Given the description of an element on the screen output the (x, y) to click on. 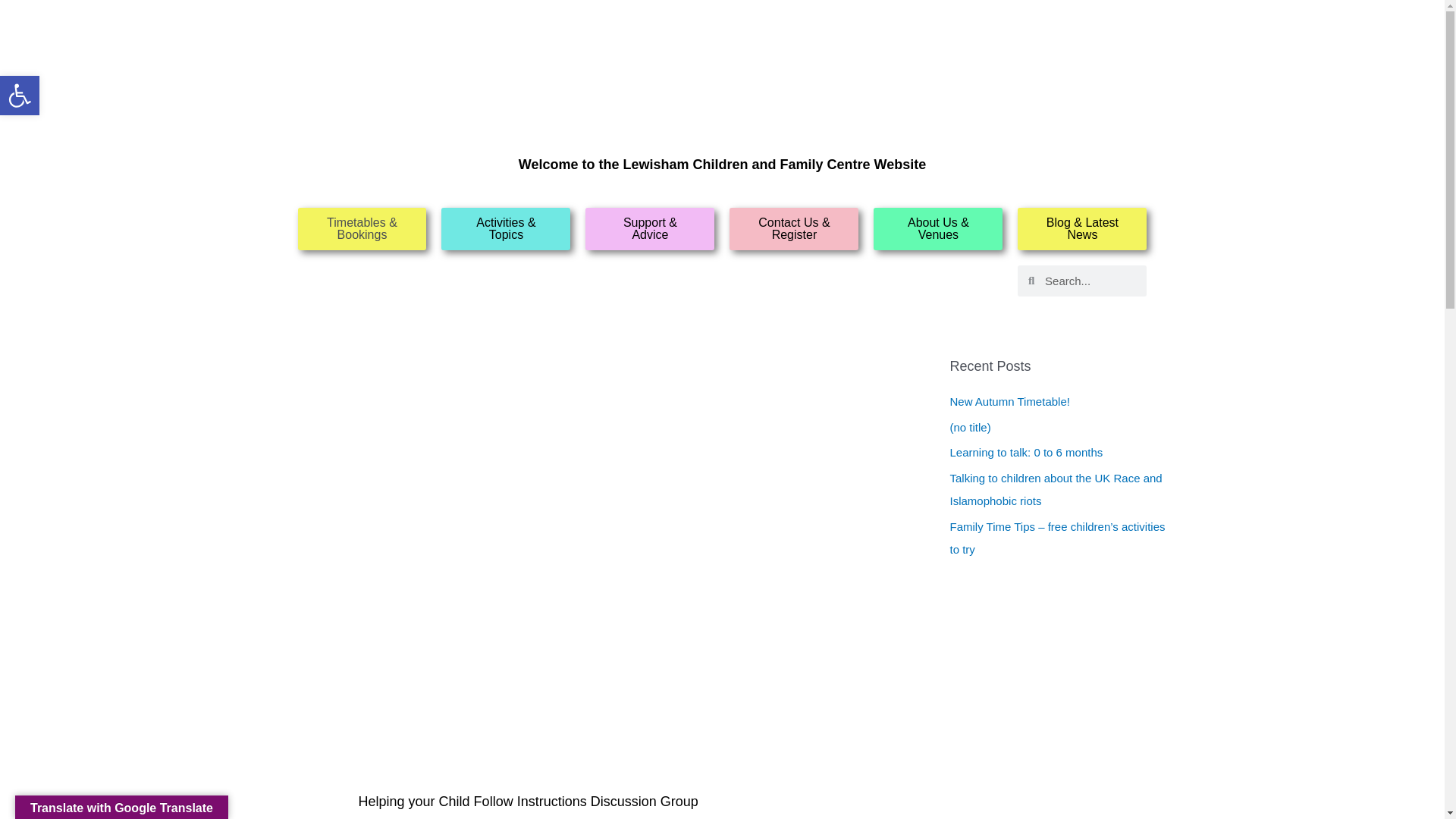
Talking to children about the UK Race and Islamophobic riots (1055, 488)
Accessibility Tools (19, 95)
New Autumn Timetable! (1008, 400)
Learning to talk: 0 to 6 months (1025, 451)
